Given the description of an element on the screen output the (x, y) to click on. 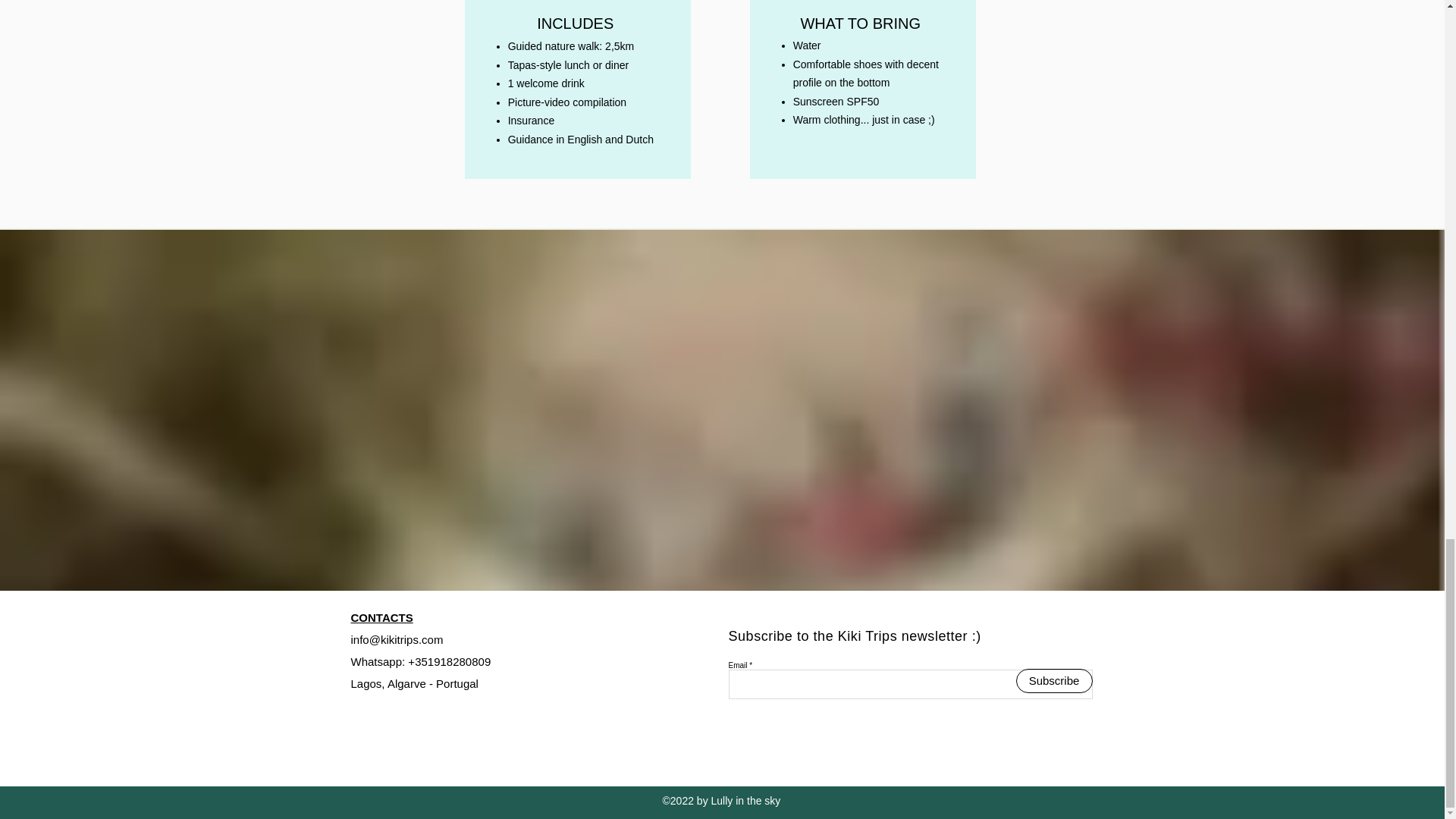
CONTACTS (381, 617)
Subscribe (1054, 680)
